Given the description of an element on the screen output the (x, y) to click on. 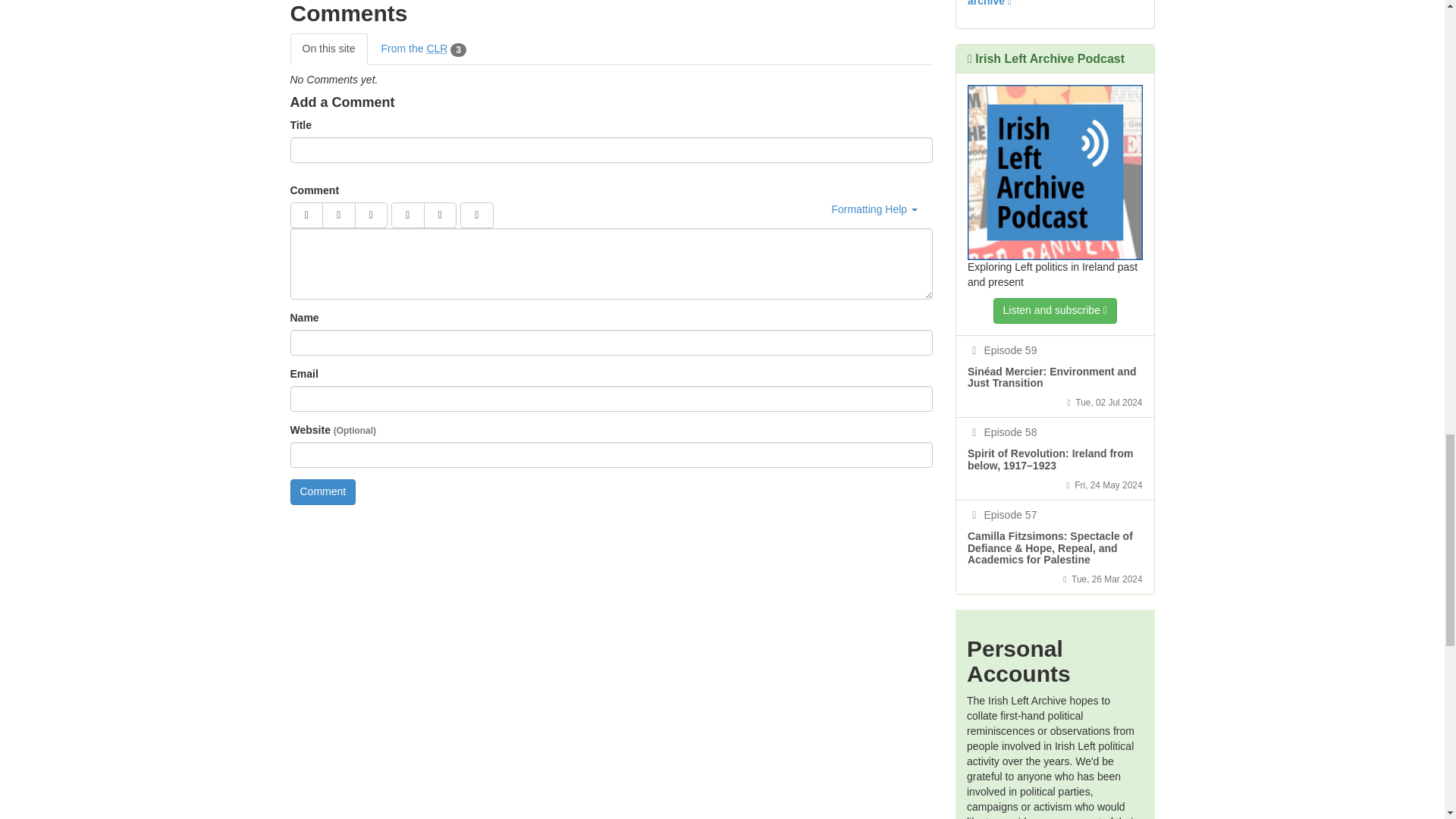
Cedar Lounge Revolution (436, 48)
Irish Left Archive Podcast (1055, 172)
